Given the description of an element on the screen output the (x, y) to click on. 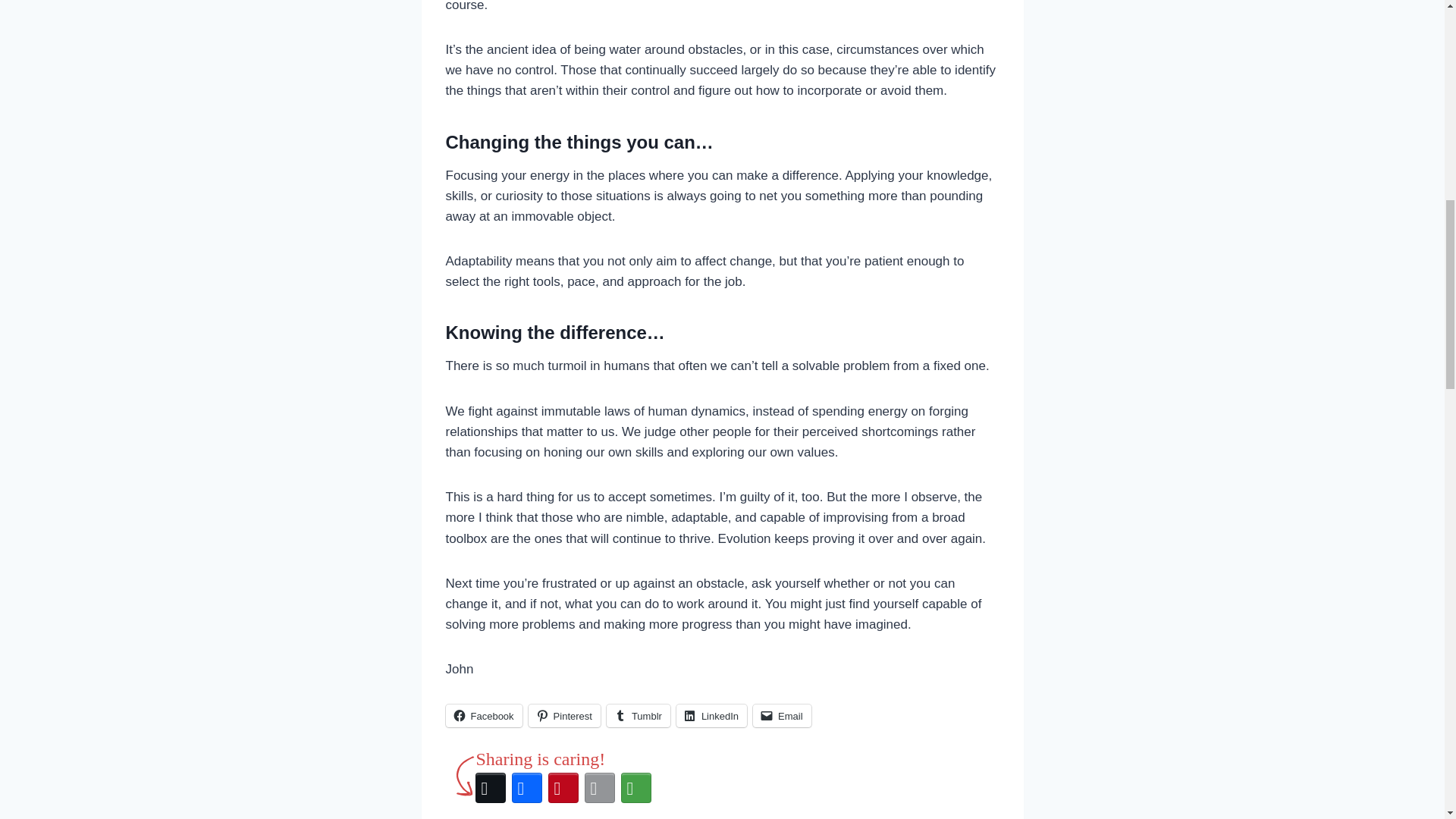
Click to email a link to a friend (781, 715)
Click to share on LinkedIn (711, 715)
Pinterest (562, 787)
More Options (635, 787)
Email This (598, 787)
Email (781, 715)
LinkedIn (711, 715)
Click to share on Tumblr (638, 715)
Click to share on Facebook (483, 715)
Click to share on Pinterest (563, 715)
Pinterest (563, 715)
Tumblr (638, 715)
Facebook (483, 715)
Facebook (526, 787)
